Given the description of an element on the screen output the (x, y) to click on. 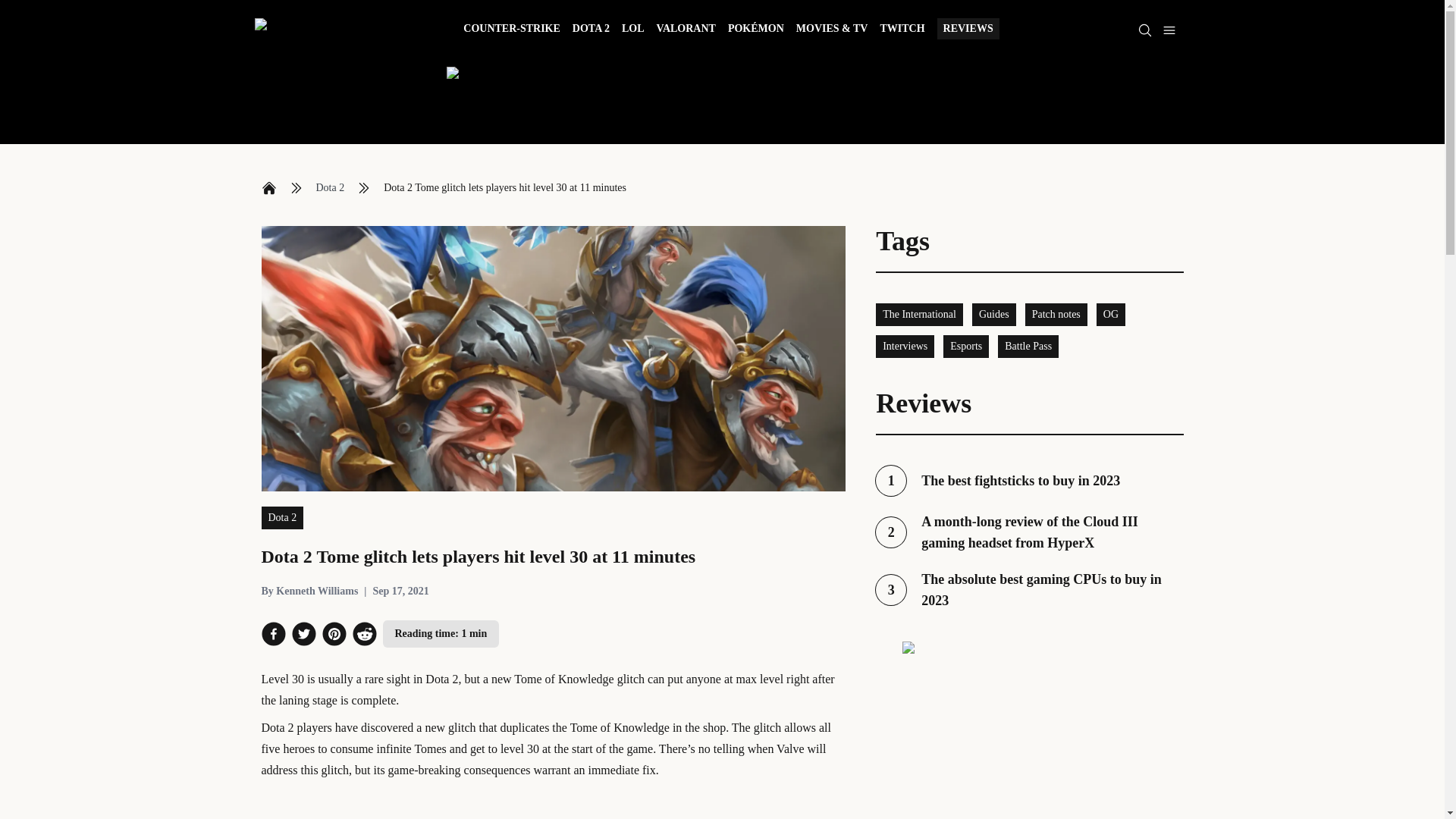
OG (1110, 314)
Dota 2 (281, 517)
Home (268, 187)
Dota 2 Tome glitch lets players hit level 30 at 11 minutes (505, 187)
VALORANT (686, 30)
Guides (994, 314)
TWITCH (901, 30)
Esports (1029, 589)
